Given the description of an element on the screen output the (x, y) to click on. 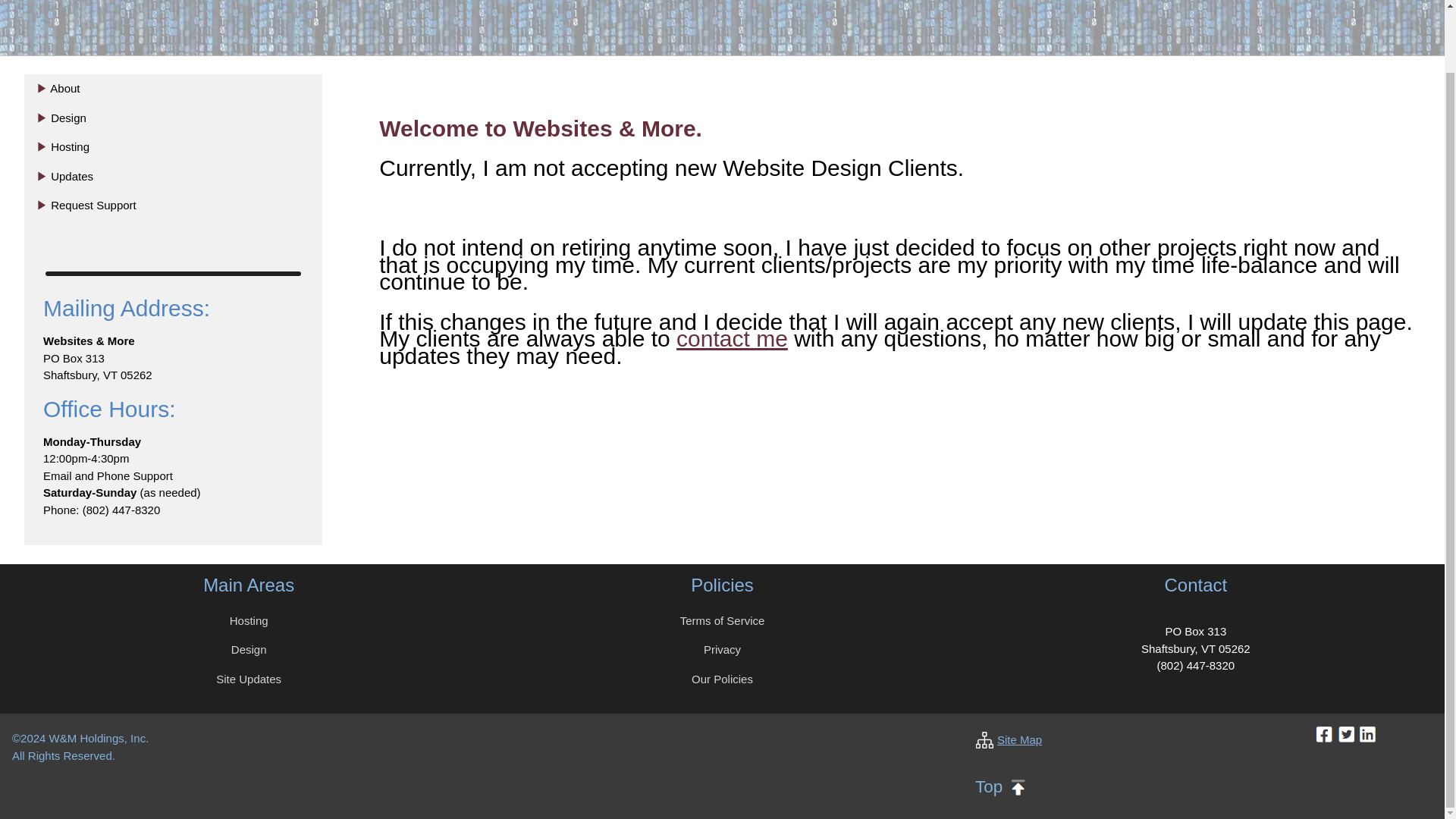
Our Policies (721, 678)
Site Updates (248, 678)
contact me (732, 338)
Design (248, 649)
Privacy (722, 649)
Hosting (248, 620)
Terms of Service (722, 620)
Top (1002, 786)
Site Map (1019, 739)
